Given the description of an element on the screen output the (x, y) to click on. 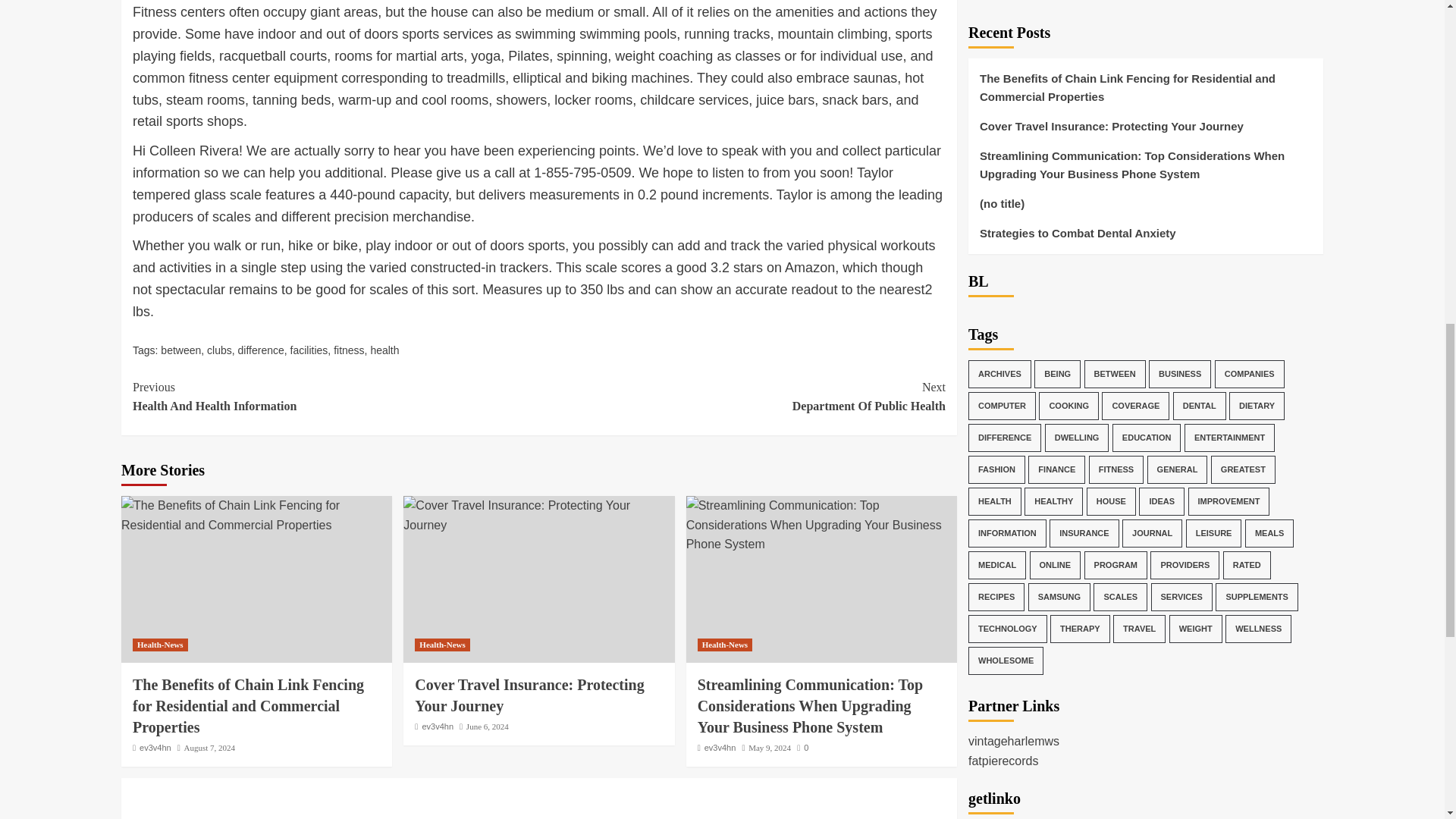
fitness (348, 349)
clubs (218, 349)
ev3v4hn (437, 726)
August 7, 2024 (209, 747)
health (383, 349)
facilities (309, 349)
Cover Travel Insurance: Protecting Your Journey (528, 695)
ev3v4hn (155, 747)
Health-News (159, 644)
June 6, 2024 (486, 726)
